Given the description of an element on the screen output the (x, y) to click on. 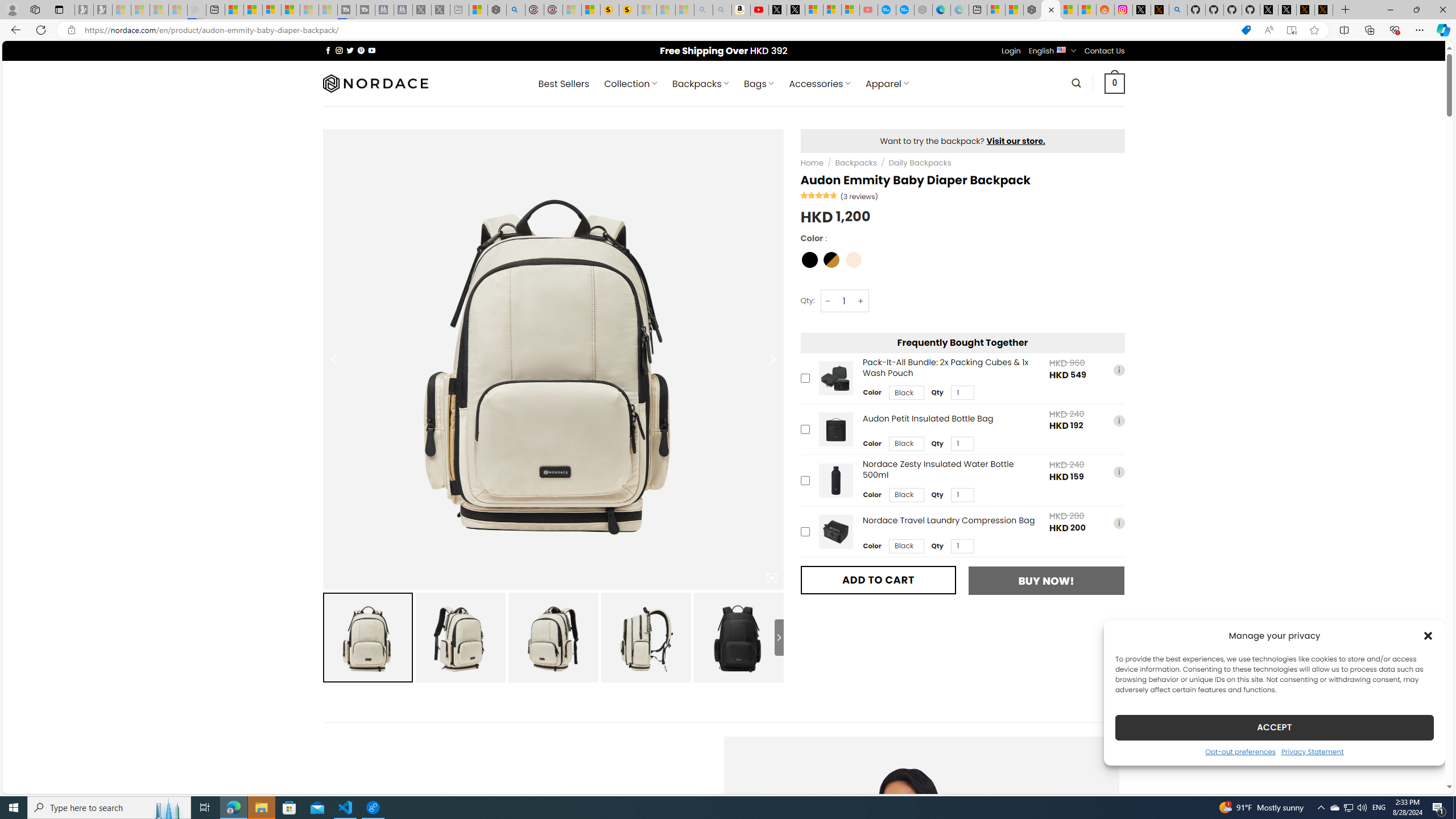
Pack-It-All Bundle: 2x Packing Cubes & 1x Wash Pouch (835, 378)
Follow on Instagram (338, 49)
  Best Sellers (563, 83)
Shanghai, China Weather trends | Microsoft Weather (1086, 9)
Follow on YouTube (371, 49)
  0   (1115, 83)
 Best Sellers (563, 83)
